Given the description of an element on the screen output the (x, y) to click on. 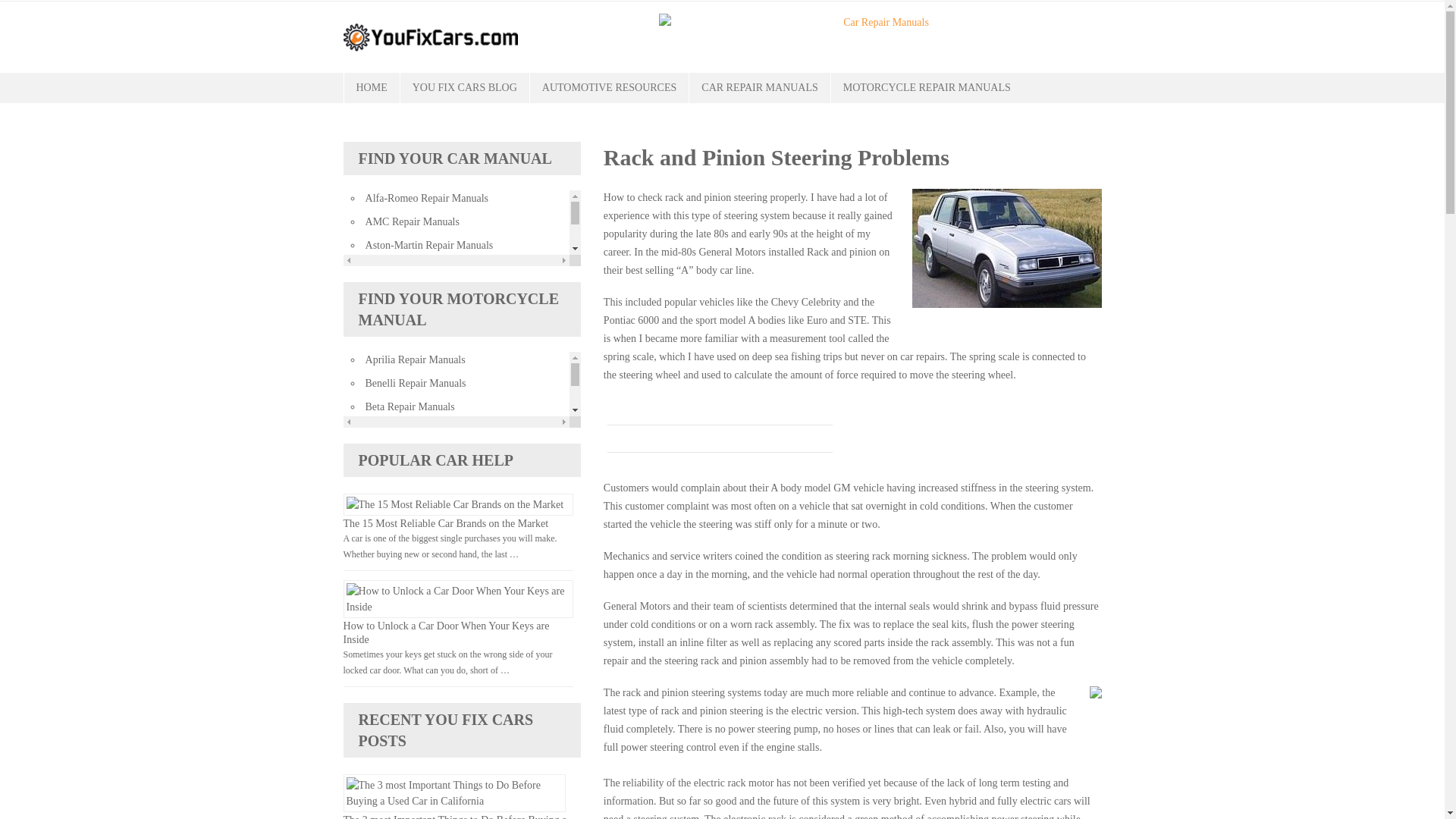
Austin Repair Manuals (414, 292)
AUTOMOTIVE RESOURCES (608, 87)
Buick Repair Manuals (413, 386)
YOU FIX CARS BLOG (464, 87)
Chevrolet Repair Manuals (421, 432)
Chrysler Repair Manuals (418, 456)
Alfa-Romeo Repair Manuals (427, 197)
Dacia Repair Manuals (412, 503)
BMW Repair Manuals (413, 362)
AMC Repair Manuals (412, 221)
HOME (370, 87)
Aston-Martin Repair Manuals (429, 244)
